Given the description of an element on the screen output the (x, y) to click on. 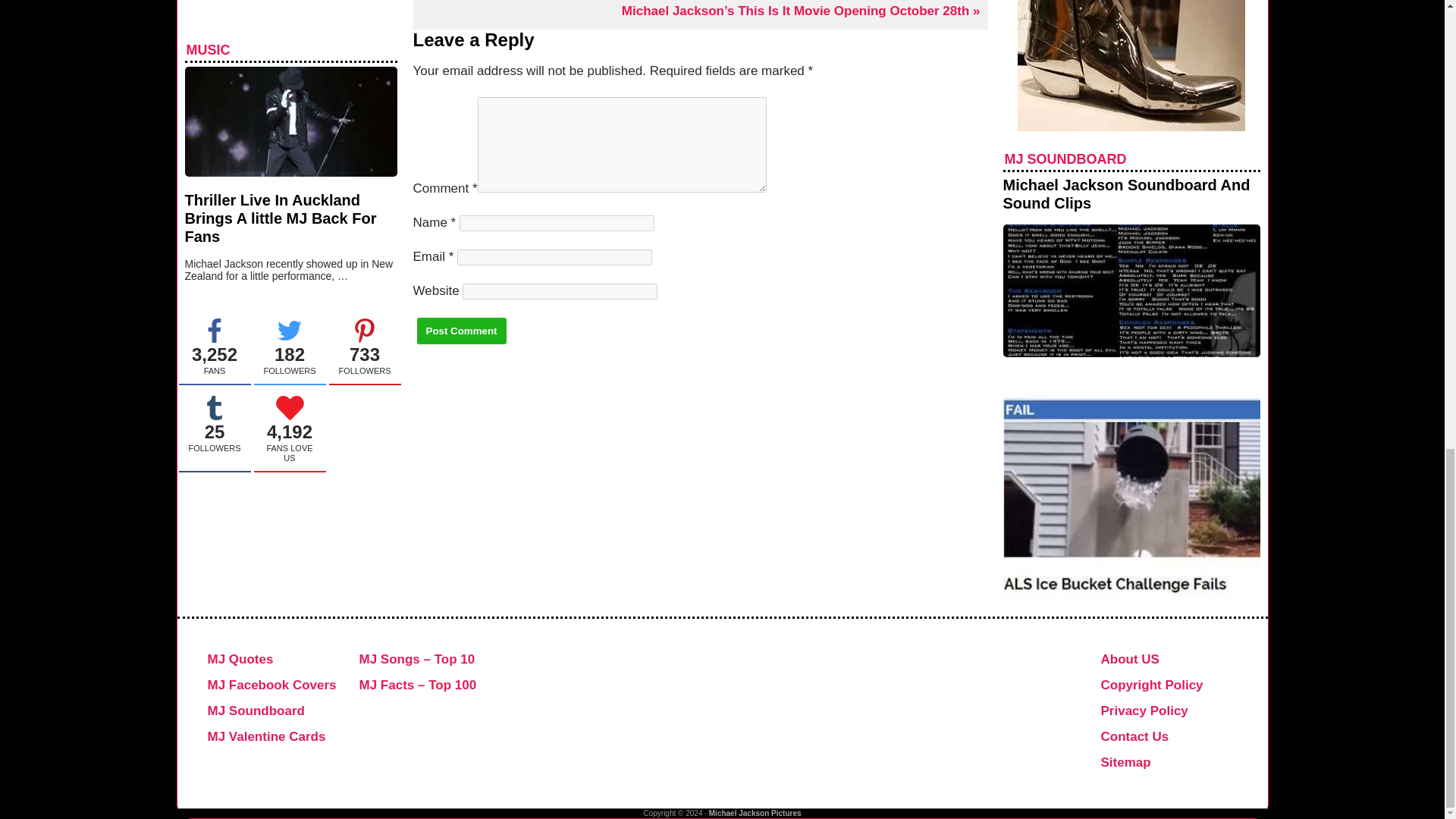
Post Comment (461, 330)
